Given the description of an element on the screen output the (x, y) to click on. 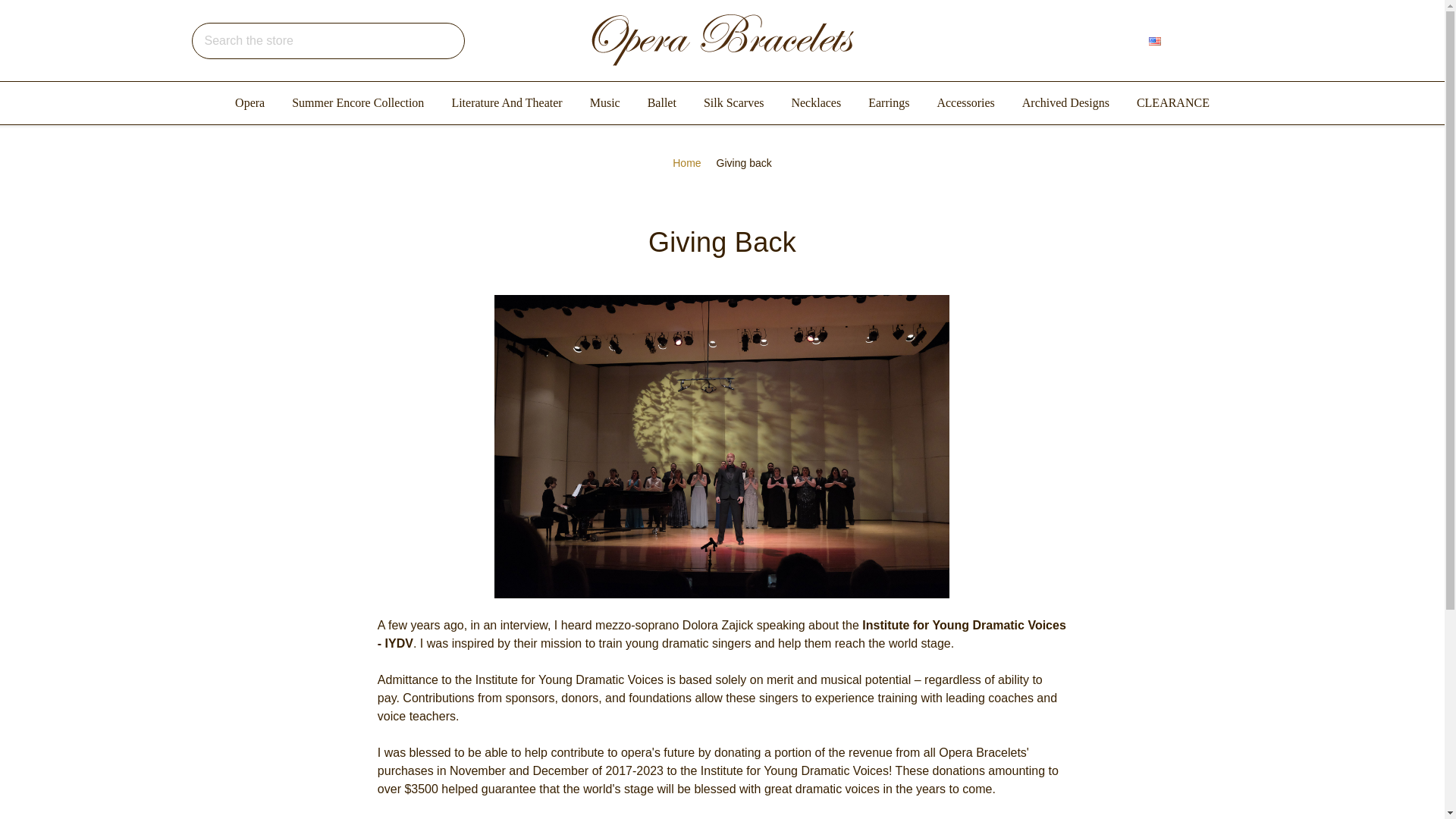
CLEARANCE (1172, 102)
Silk Scarves (733, 102)
Home (686, 163)
Music (604, 102)
Literature And Theater (506, 102)
Opera Bracelets (722, 40)
Earrings (888, 102)
Opera (249, 102)
Accessories (965, 102)
Archived Designs (1065, 102)
